Given the description of an element on the screen output the (x, y) to click on. 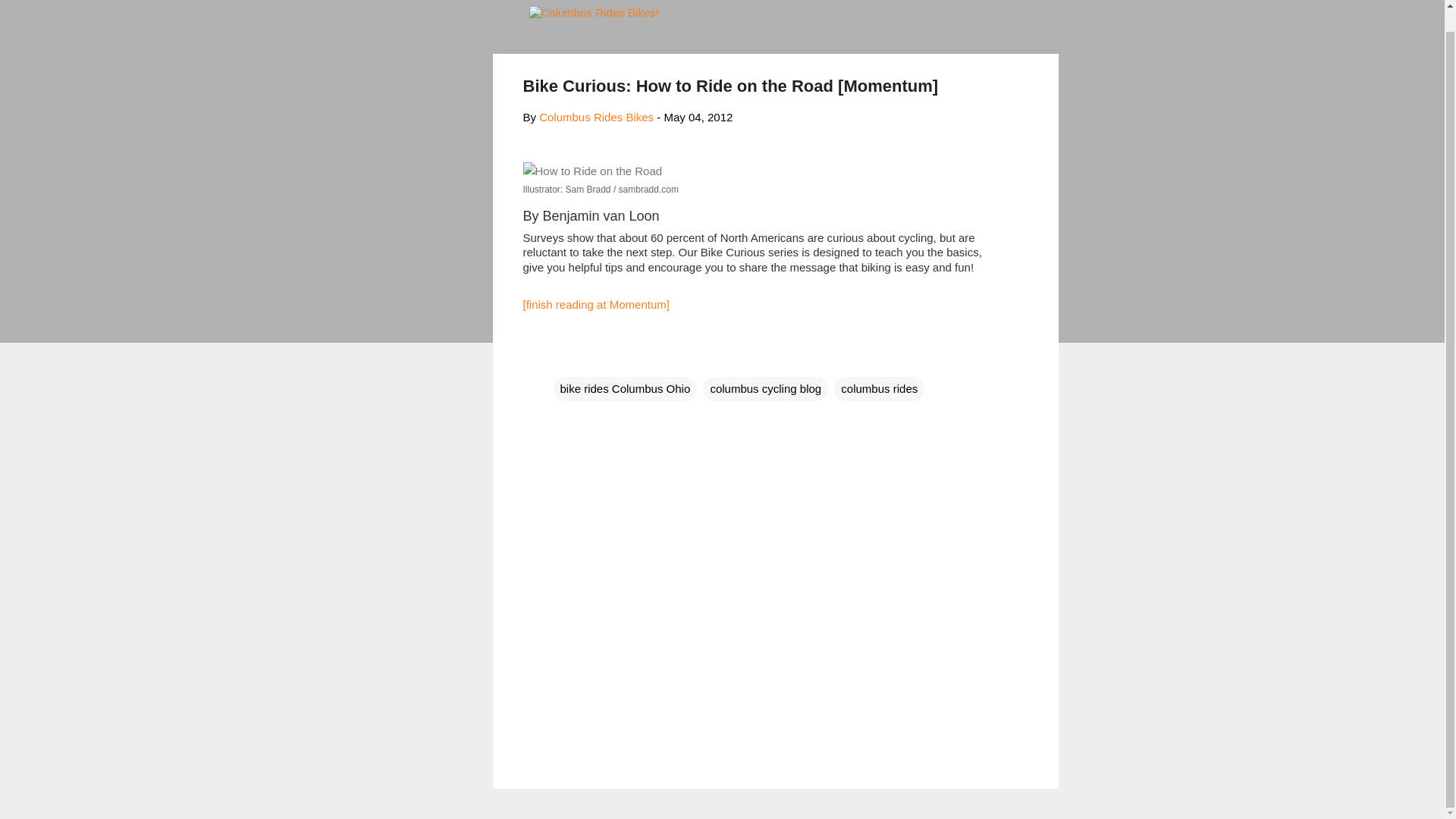
Email Post (562, 358)
How to Ride on the Road (592, 171)
author profile (595, 116)
permanent link (697, 116)
Columbus Rides Bikes (595, 116)
columbus rides (879, 388)
columbus cycling blog (765, 388)
bike rides Columbus Ohio (625, 388)
Search (29, 7)
May 04, 2012 (697, 116)
